Given the description of an element on the screen output the (x, y) to click on. 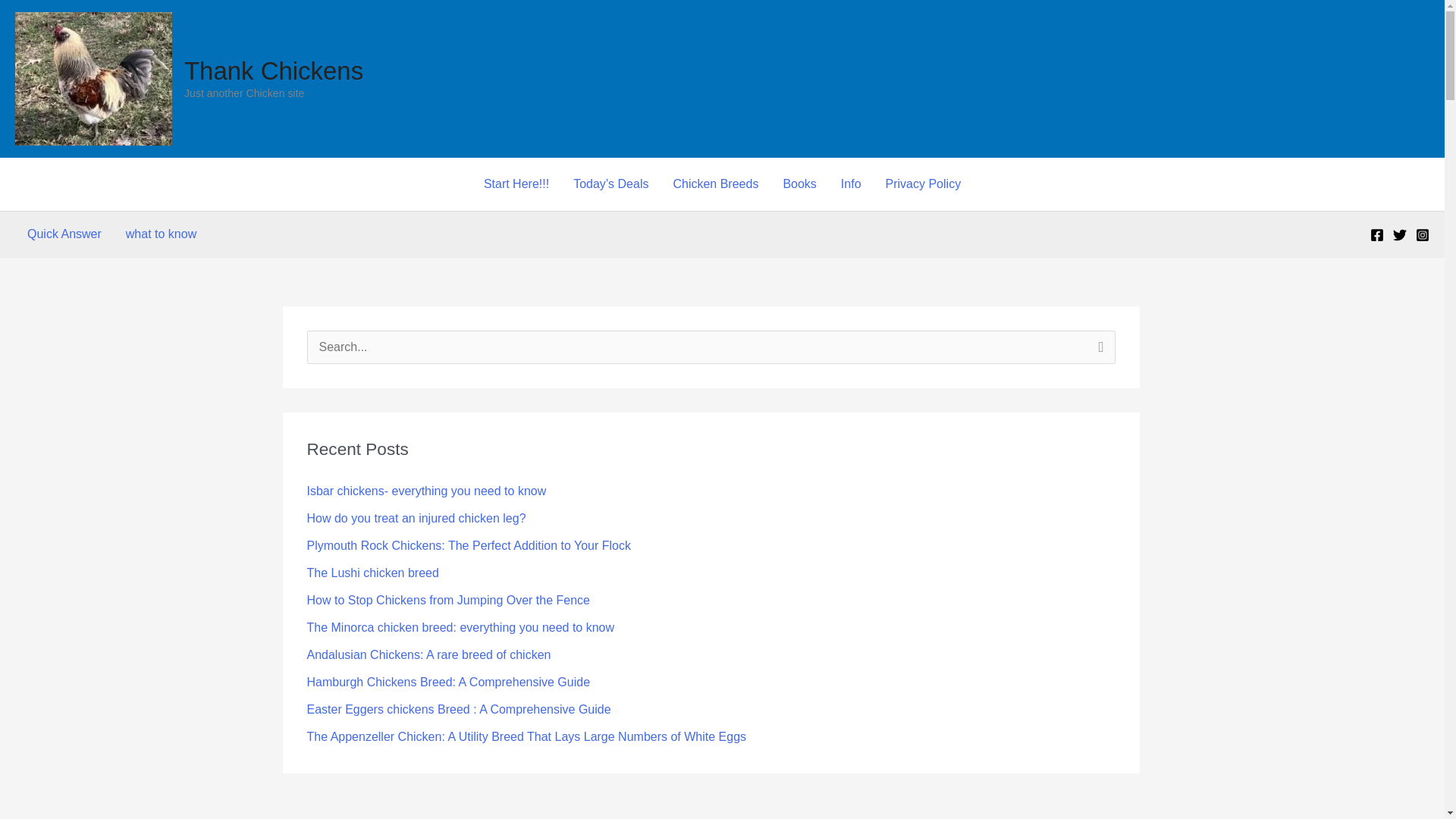
Isbar chickens- everything you need to know (425, 490)
How do you treat an injured chicken leg? (415, 517)
what to know (160, 234)
Books (799, 184)
Easter Eggers chickens Breed : A Comprehensive Guide (457, 708)
Hamburgh Chickens Breed: A Comprehensive Guide (447, 681)
Plymouth Rock Chickens: The Perfect Addition to Your Flock (467, 545)
The Lushi chicken breed (371, 572)
Privacy Policy (923, 184)
